Given the description of an element on the screen output the (x, y) to click on. 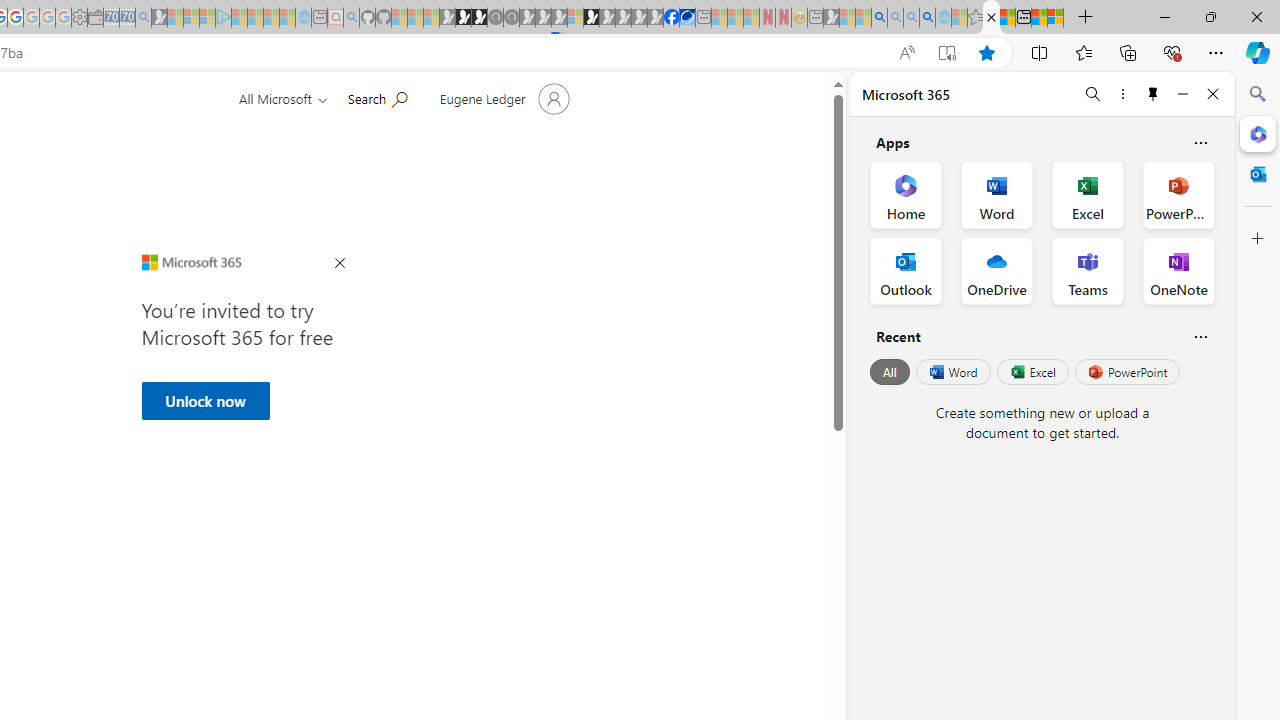
Microsoft account | Privacy - Sleeping (207, 17)
All (890, 372)
Settings - Sleeping (79, 17)
OneDrive Office App (996, 270)
Word Office App (996, 194)
Excel Office App (1087, 194)
Wallet - Sleeping (95, 17)
Play Zoo Boom in your browser | Games from Microsoft Start (463, 17)
Aberdeen, Hong Kong SAR weather forecast | Microsoft Weather (1007, 17)
Sign in to your account - Sleeping (575, 17)
